Given the description of an element on the screen output the (x, y) to click on. 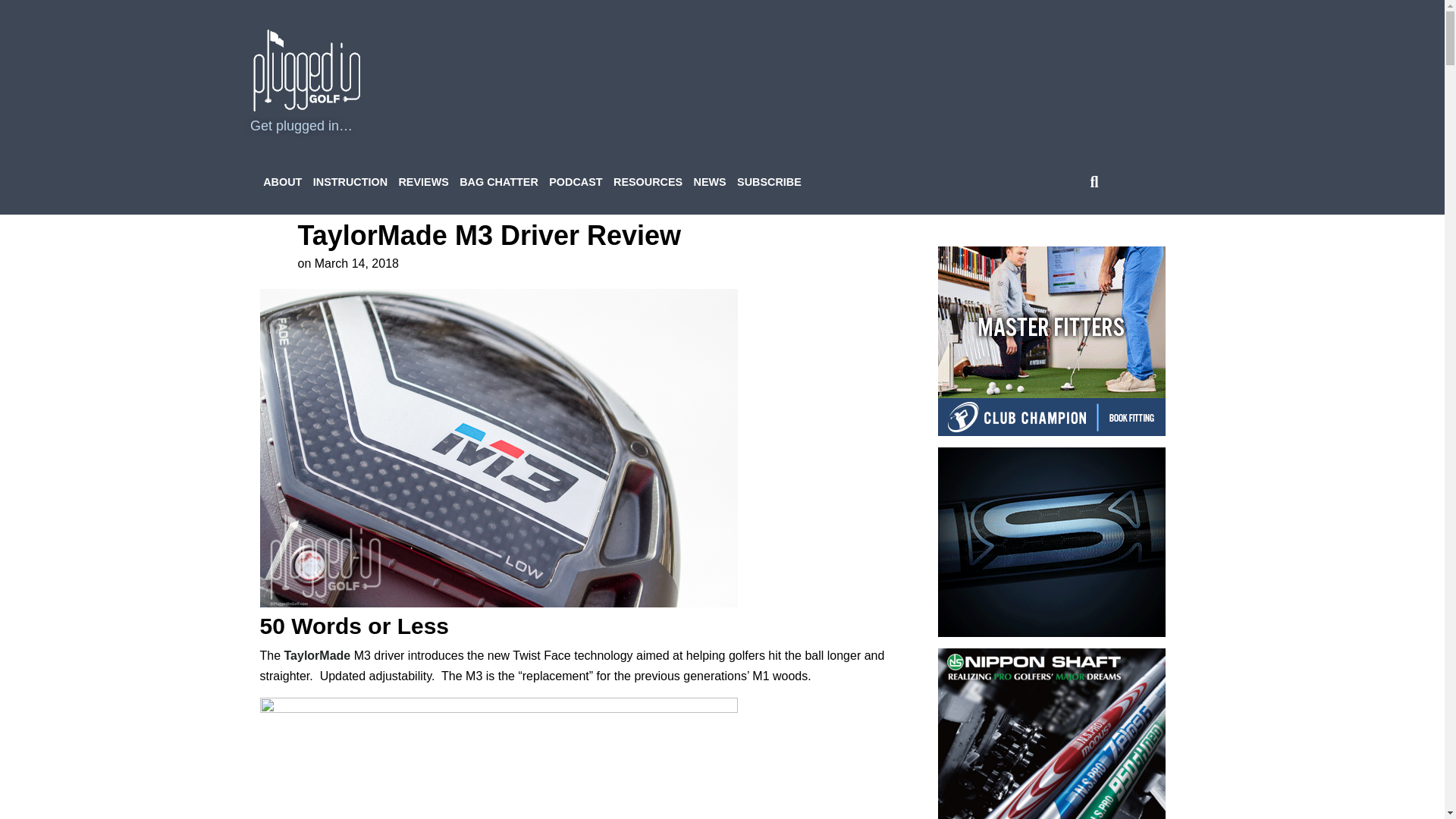
ABOUT (282, 181)
BAG CHATTER (498, 181)
search-button (1093, 182)
REVIEWS (423, 181)
Plugged-In-Golf-White-on-Blue-e1597419240829 (307, 70)
INSTRUCTION (350, 181)
